Given the description of an element on the screen output the (x, y) to click on. 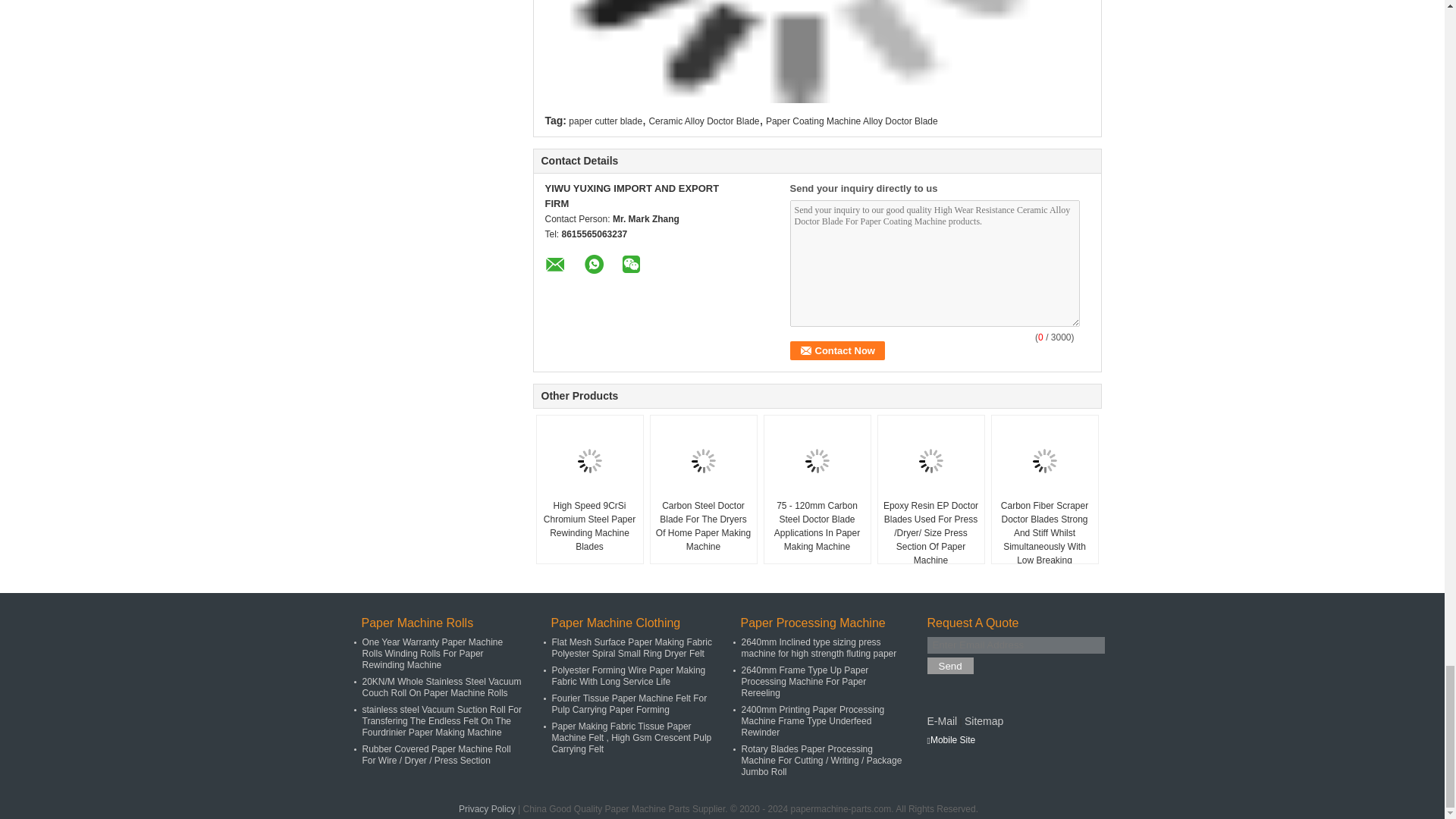
Contact Now (837, 350)
